Given the description of an element on the screen output the (x, y) to click on. 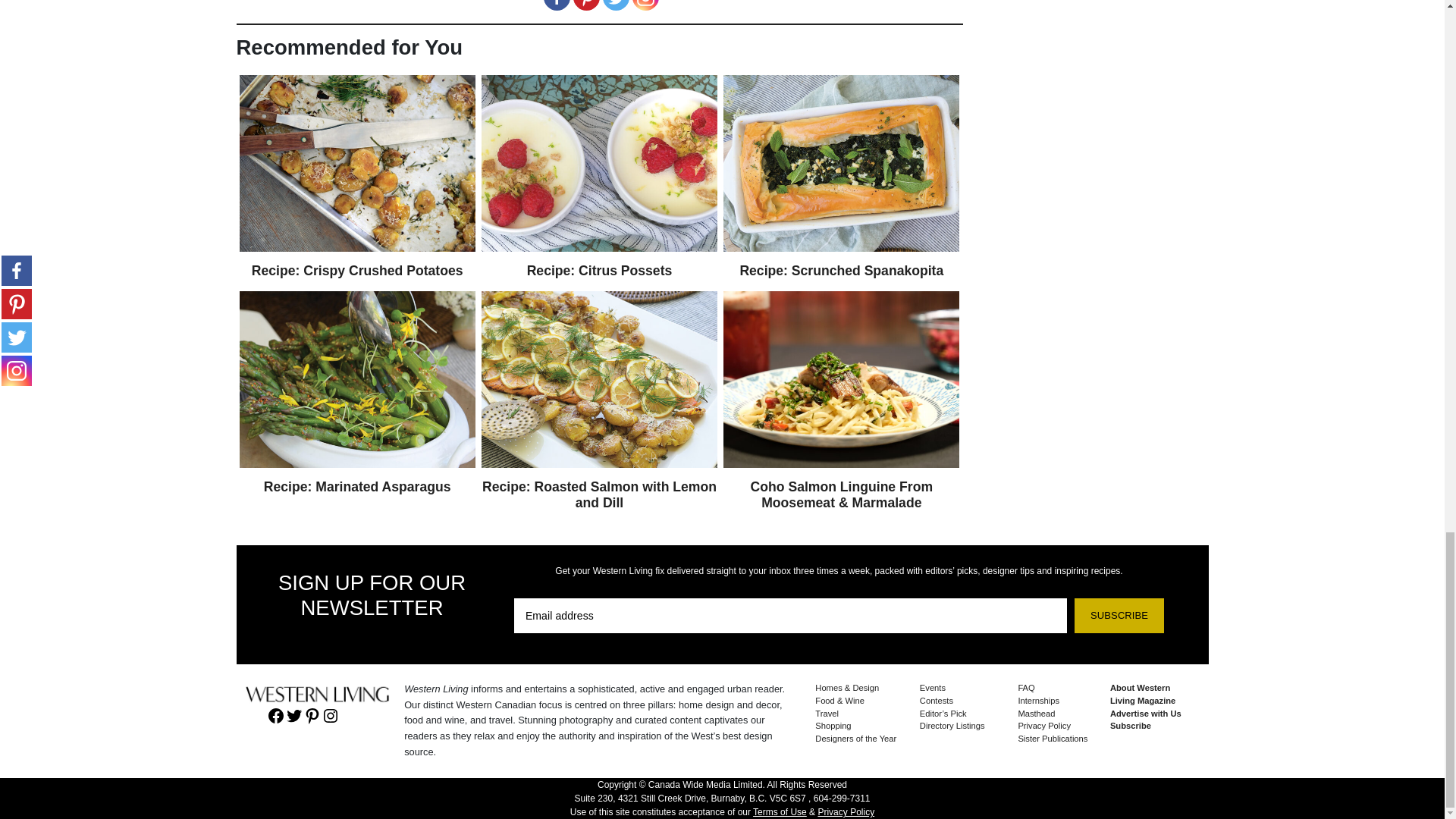
Instagram (645, 5)
Pinterest (586, 5)
Facebook (556, 5)
Twitter (615, 5)
